Given the description of an element on the screen output the (x, y) to click on. 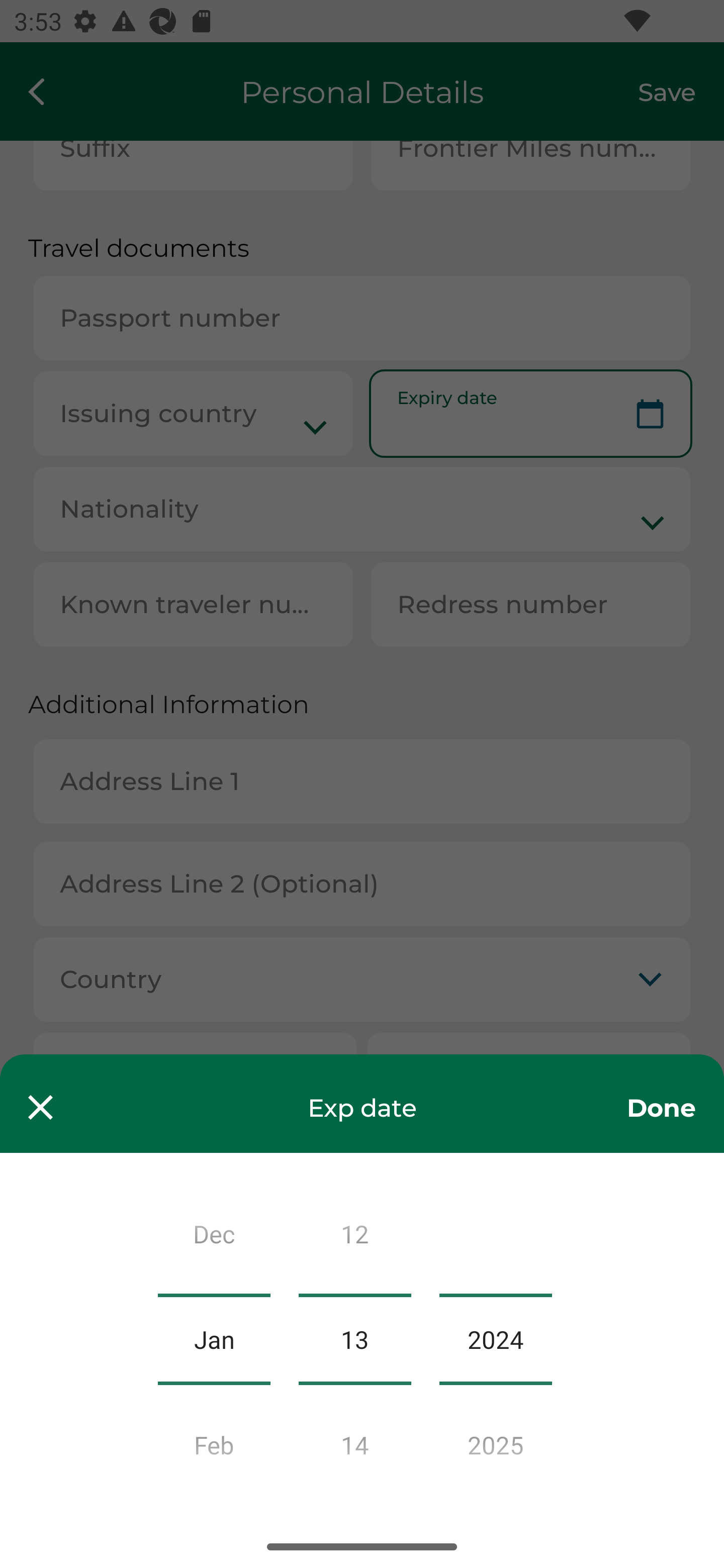
Done (661, 1106)
Dec (213, 1238)
12 (354, 1238)
Jan (213, 1338)
13 (354, 1338)
2024 (495, 1338)
Feb (213, 1439)
14 (354, 1439)
2025 (495, 1439)
